Given the description of an element on the screen output the (x, y) to click on. 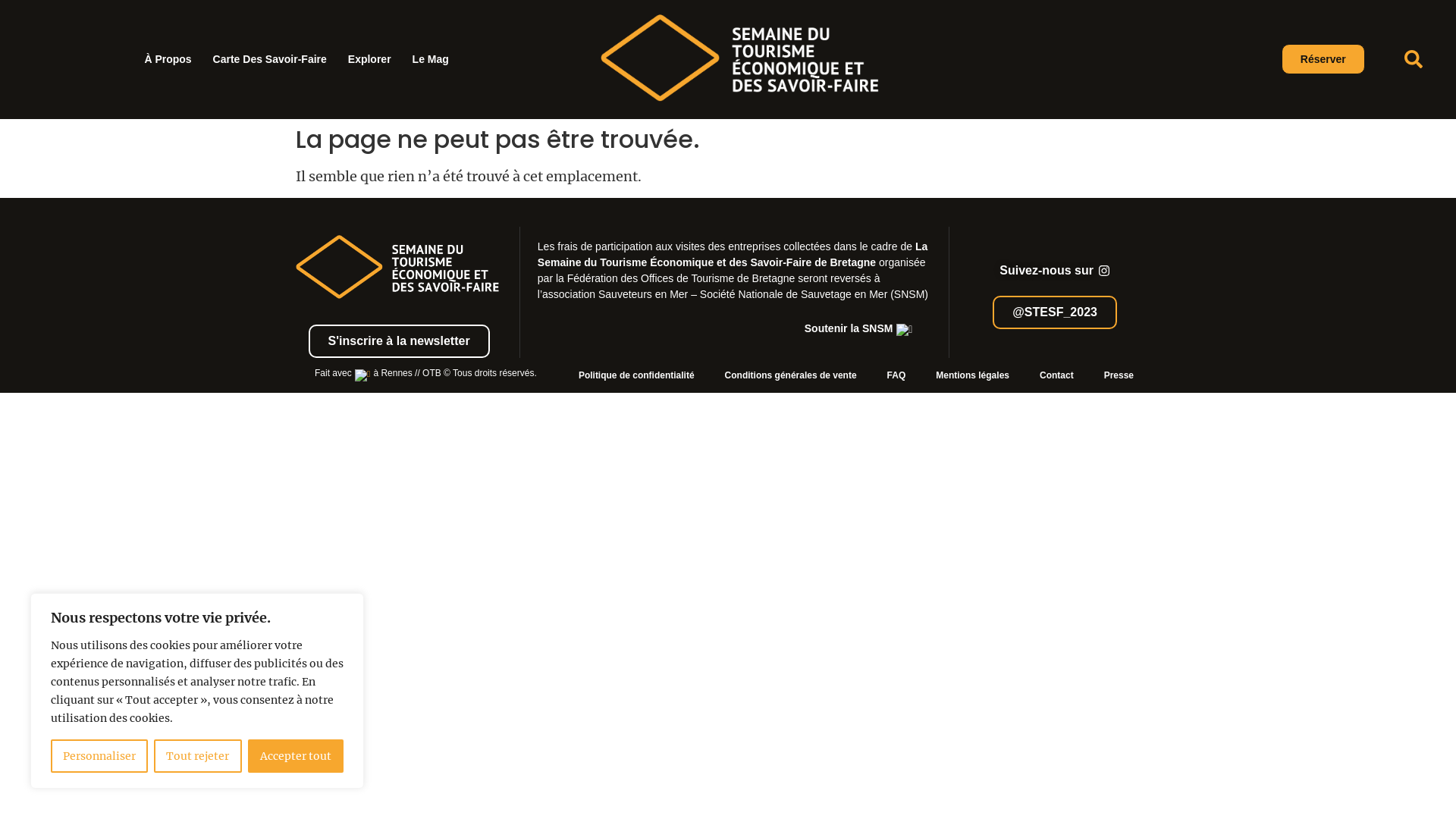
FAQ Element type: text (896, 374)
Soutenir la SNSM Element type: text (858, 329)
Explorer Element type: text (369, 58)
Personnaliser Element type: text (98, 755)
Contact Element type: text (1056, 374)
Accepter tout Element type: text (295, 755)
Presse Element type: text (1118, 374)
@STESF_2023 Element type: text (1054, 312)
Tout rejeter Element type: text (197, 755)
Suivez-nous sur Element type: text (1054, 271)
Carte Des Savoir-Faire Element type: text (269, 58)
Le Mag Element type: text (430, 58)
